Given the description of an element on the screen output the (x, y) to click on. 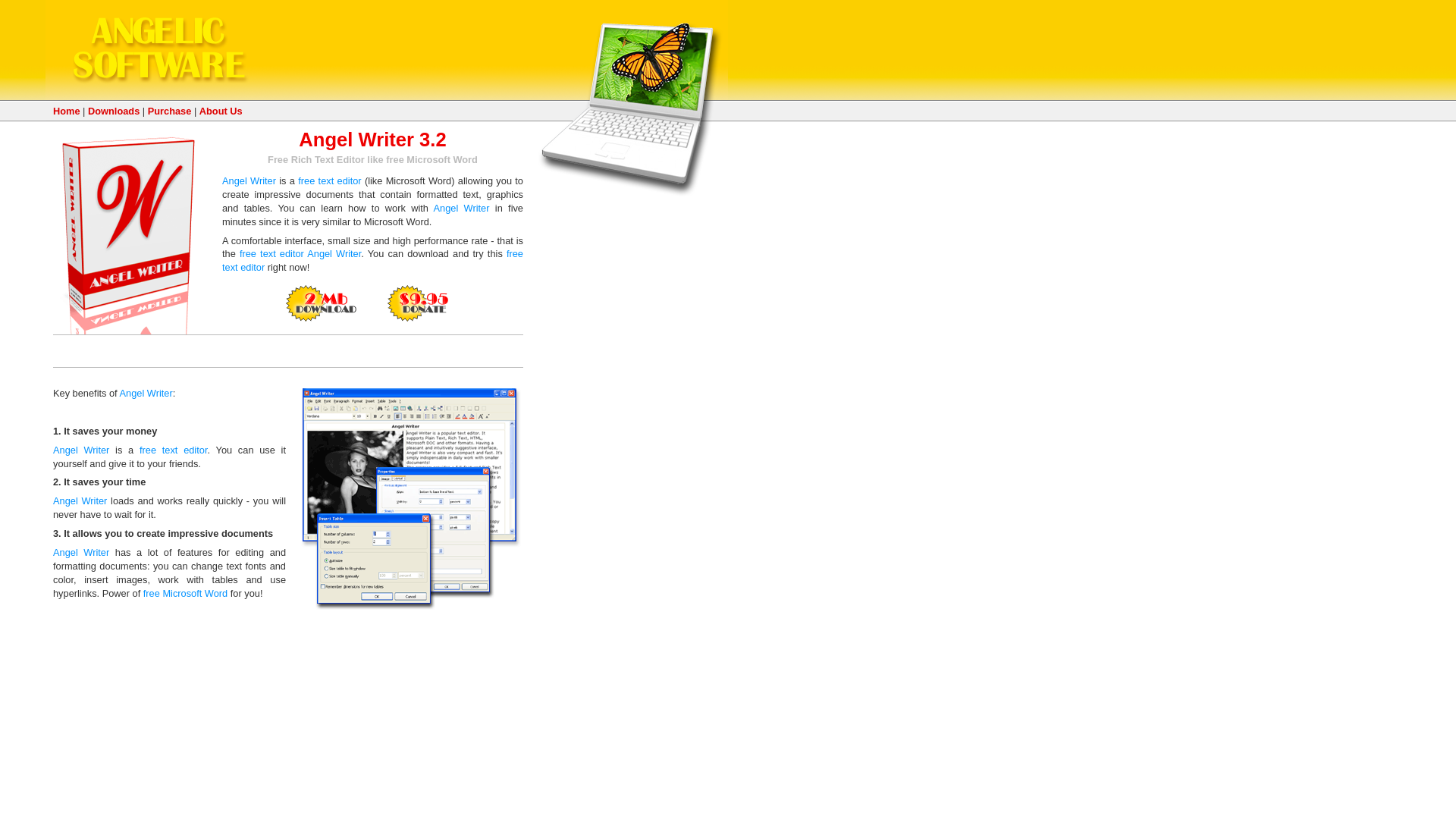
Downloads (113, 111)
Angel Writer (461, 207)
Angel Writer (146, 392)
About Us (221, 111)
Purchase (170, 111)
Angel Writer (80, 552)
Angel Writer (249, 180)
free text editor Angel Writer (300, 253)
free text editor (372, 260)
Angel Writer (80, 449)
free text editor (172, 449)
Angel Writer (79, 500)
free text editor (329, 180)
Angel Writer 3.2 (371, 138)
Home (66, 111)
